Given the description of an element on the screen output the (x, y) to click on. 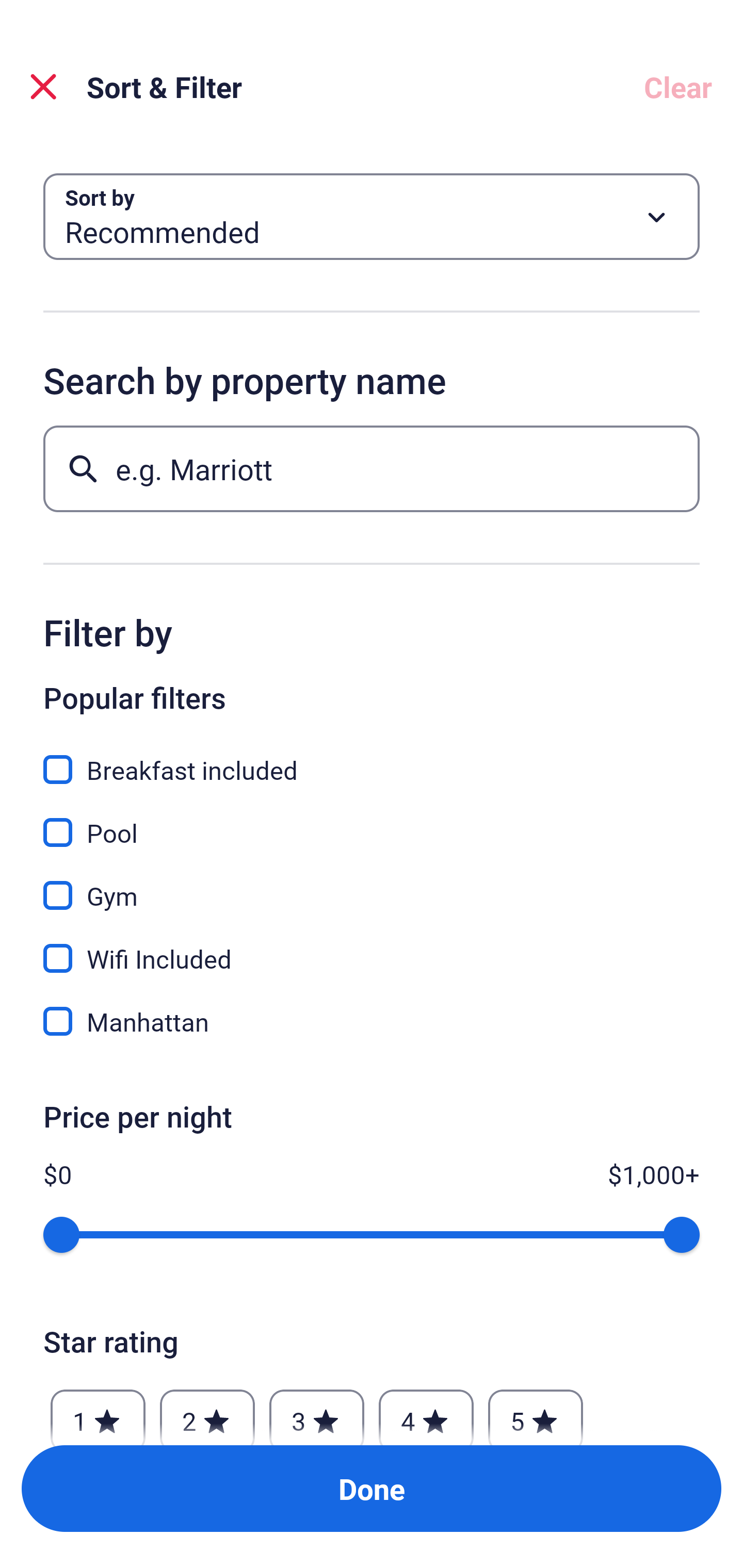
Close Sort and Filter (43, 86)
Clear (677, 86)
Sort by Button Recommended (371, 217)
e.g. Marriott Button (371, 468)
Breakfast included, Breakfast included (371, 757)
Pool, Pool (371, 821)
Gym, Gym (371, 883)
Wifi Included, Wifi Included (371, 946)
Manhattan, Manhattan (371, 1021)
1 (97, 1411)
2 (206, 1411)
3 (316, 1411)
4 (426, 1411)
5 (535, 1411)
Apply and close Sort and Filter Done (371, 1488)
